Given the description of an element on the screen output the (x, y) to click on. 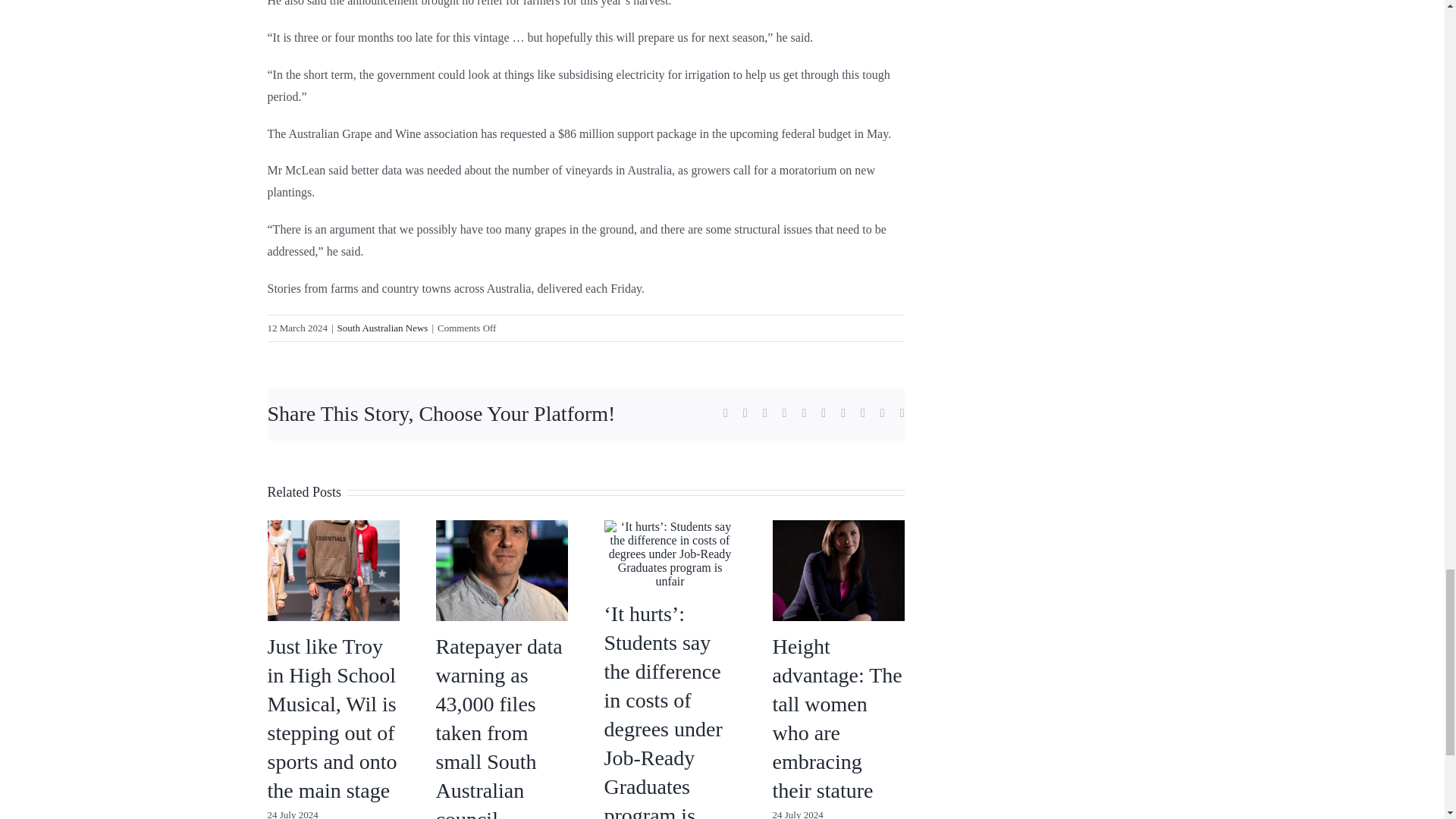
South Australian News (382, 327)
